Given the description of an element on the screen output the (x, y) to click on. 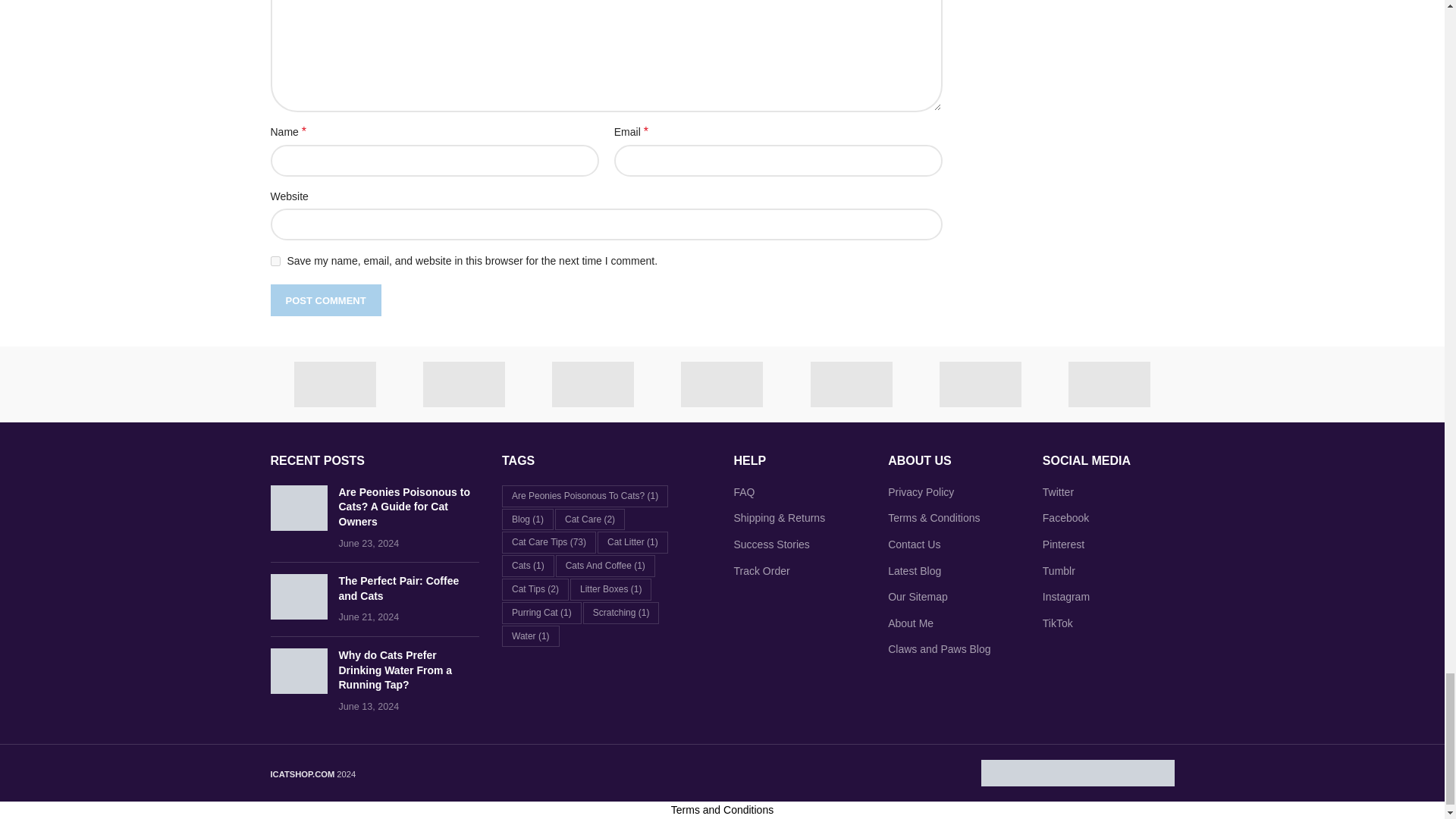
Post Comment (324, 300)
yes (274, 261)
